Given the description of an element on the screen output the (x, y) to click on. 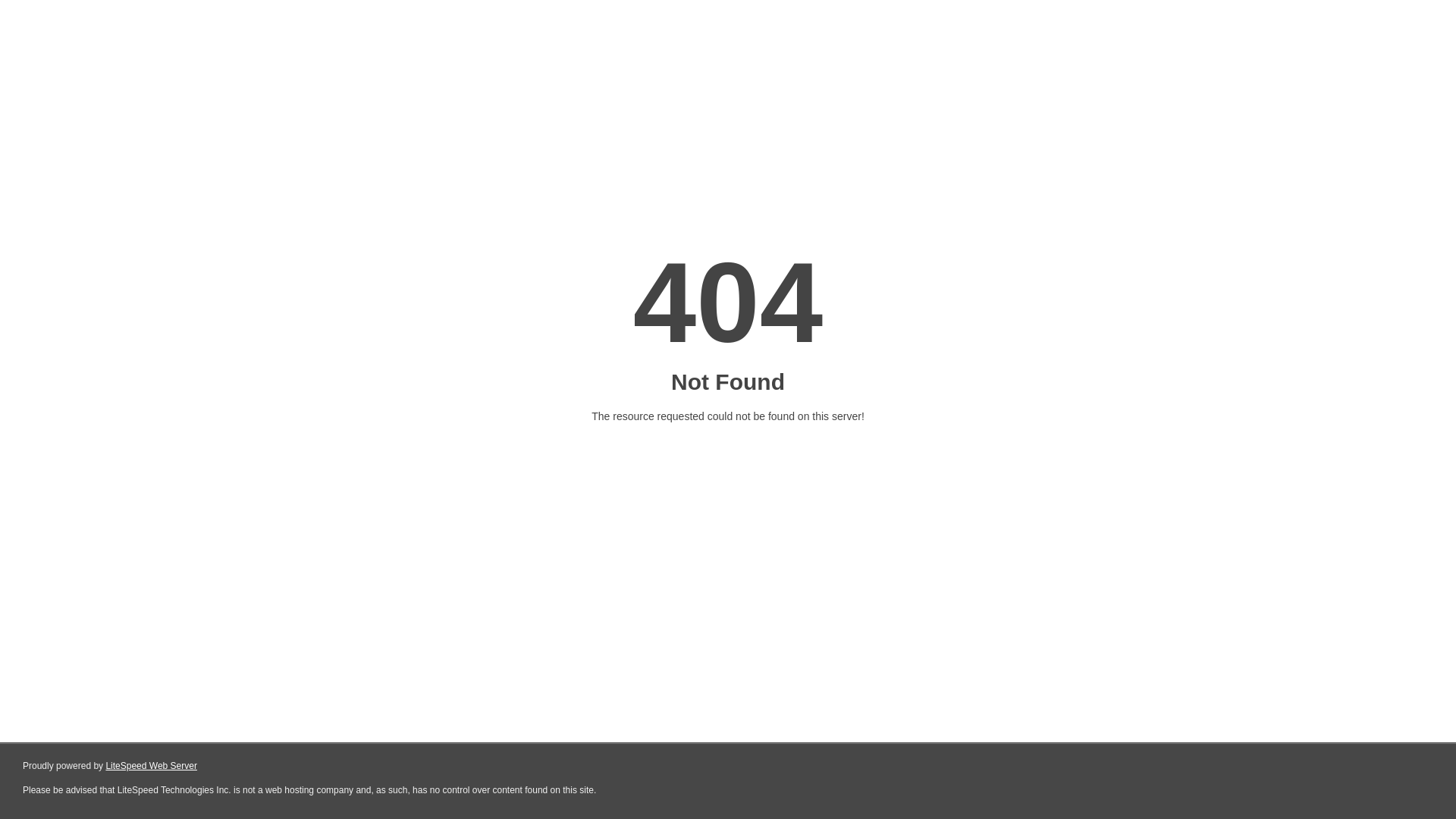
LiteSpeed Web Server Element type: text (151, 765)
